Given the description of an element on the screen output the (x, y) to click on. 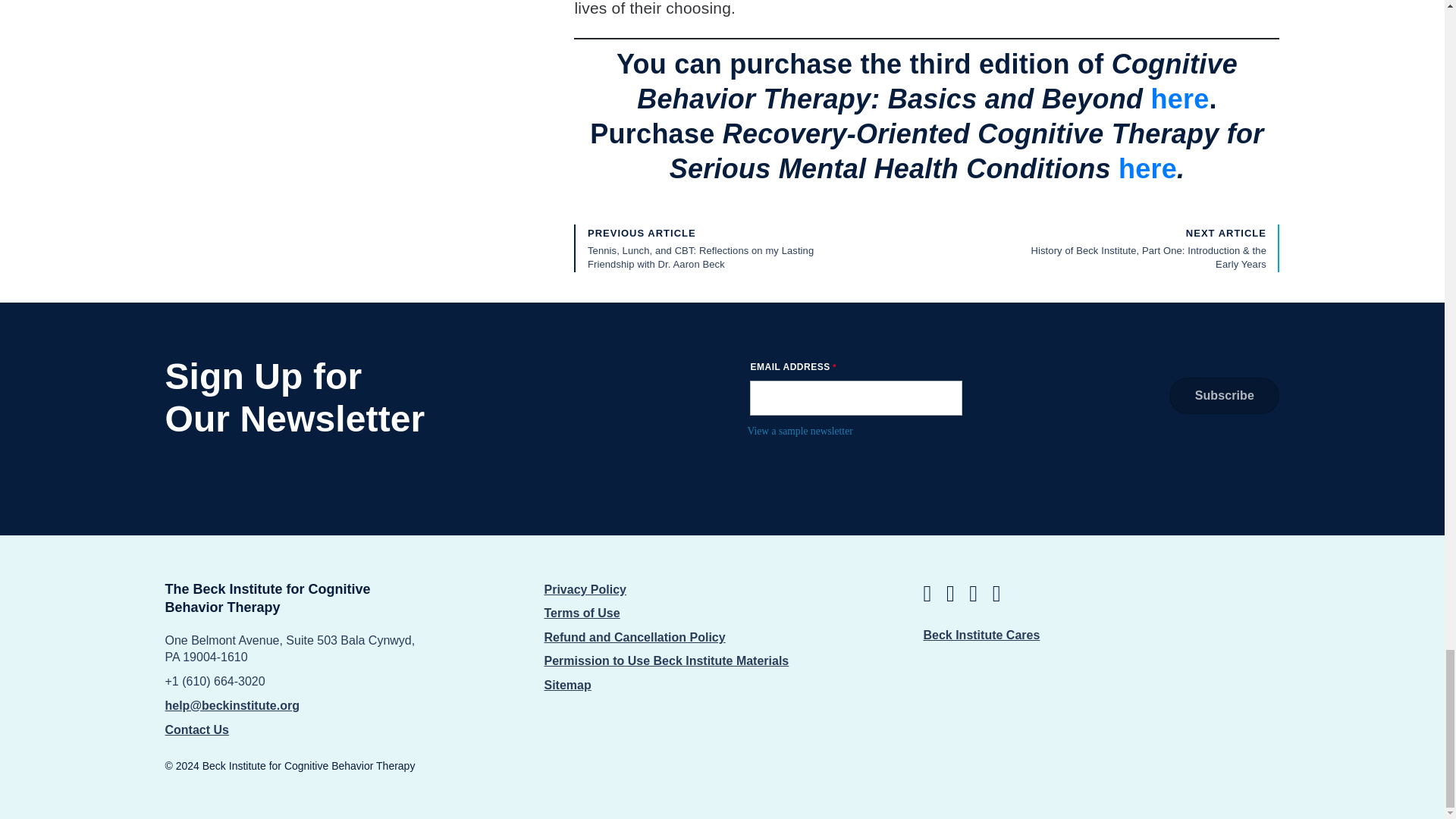
Subscribe (1224, 395)
Email Address (855, 397)
